Given the description of an element on the screen output the (x, y) to click on. 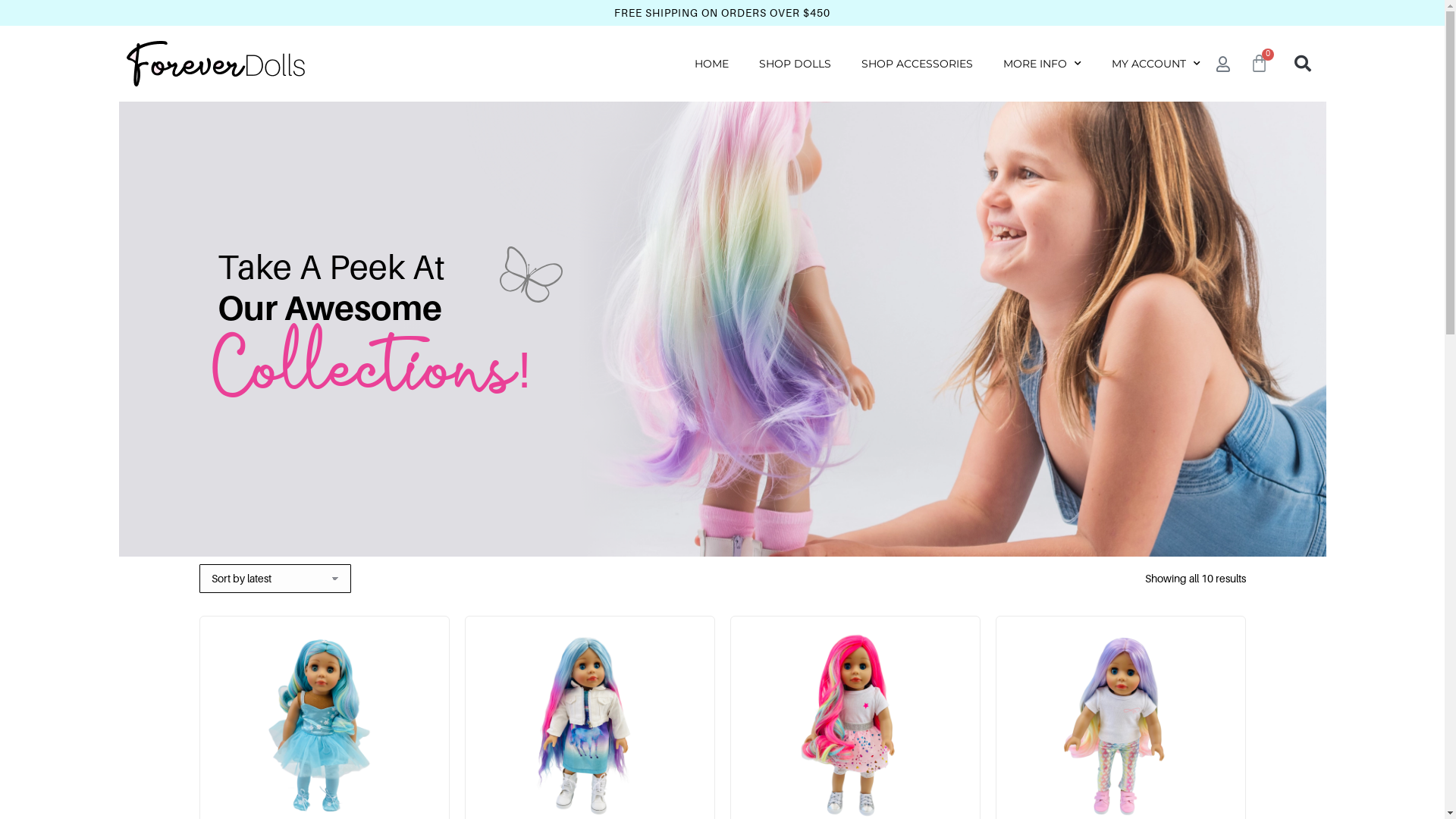
SHOP ACCESSORIES Element type: text (917, 63)
MY ACCOUNT Element type: text (1155, 63)
SHOP DOLLS Element type: text (794, 63)
0 Element type: text (1258, 63)
MORE INFO Element type: text (1042, 63)
HOME Element type: text (711, 63)
